Given the description of an element on the screen output the (x, y) to click on. 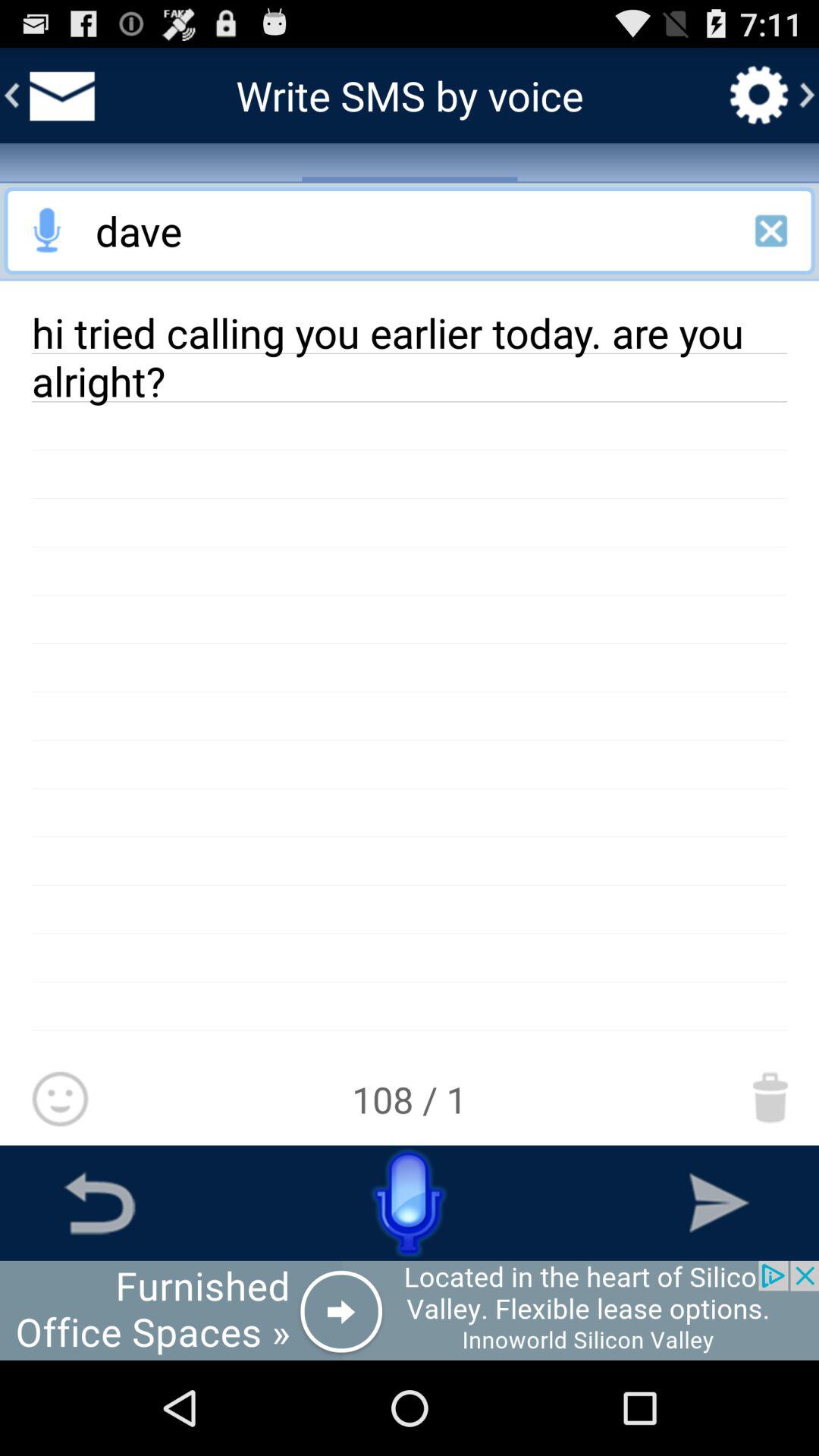
add an emoji (59, 1099)
